Given the description of an element on the screen output the (x, y) to click on. 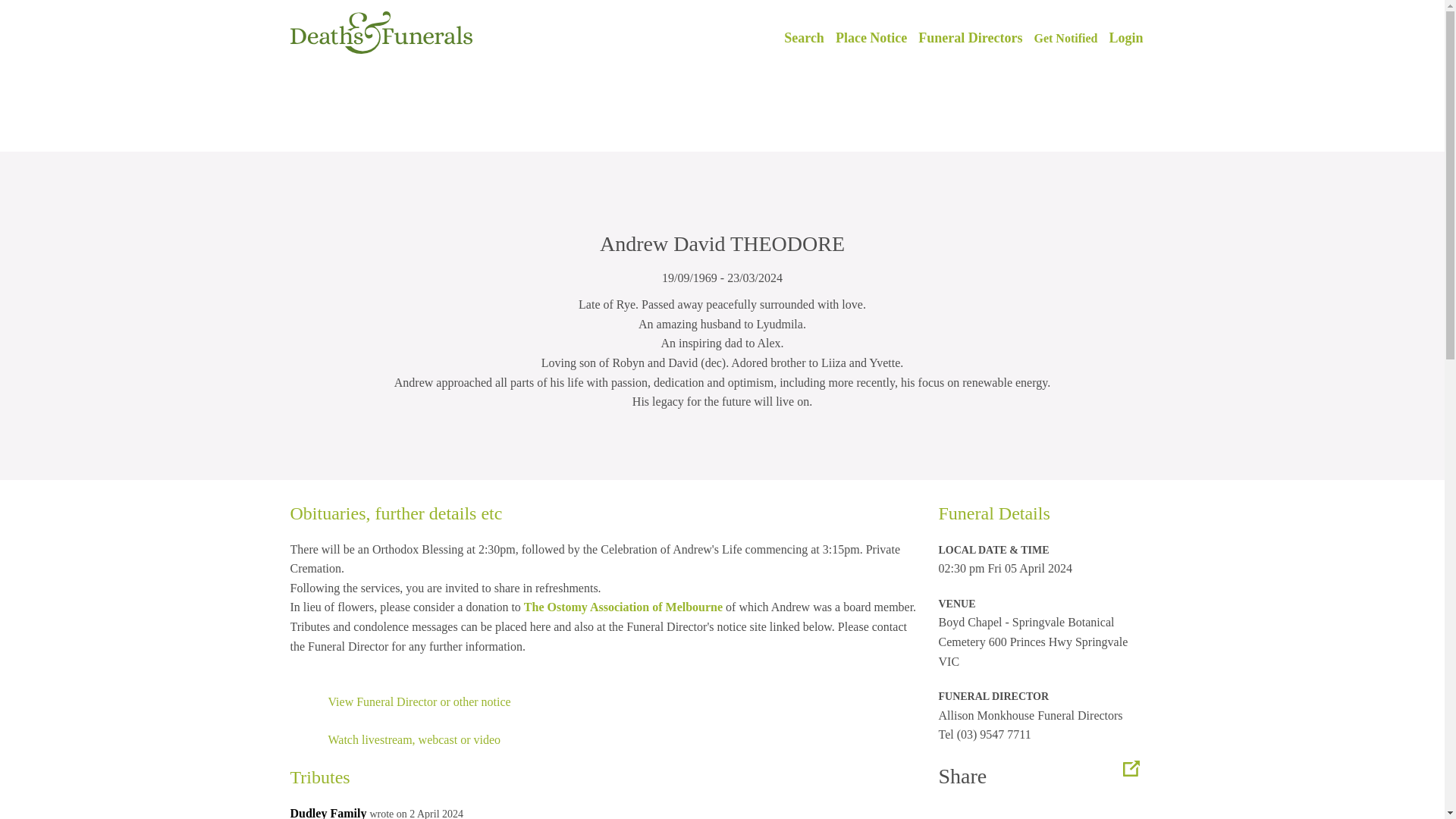
Watch livestream, webcast or video (413, 739)
Place Notice (871, 37)
Search (804, 37)
The Ostomy Association of Melbourne (623, 606)
Funeral Directors (970, 37)
View Funeral Director or other notice (419, 701)
Login (1125, 37)
